Given the description of an element on the screen output the (x, y) to click on. 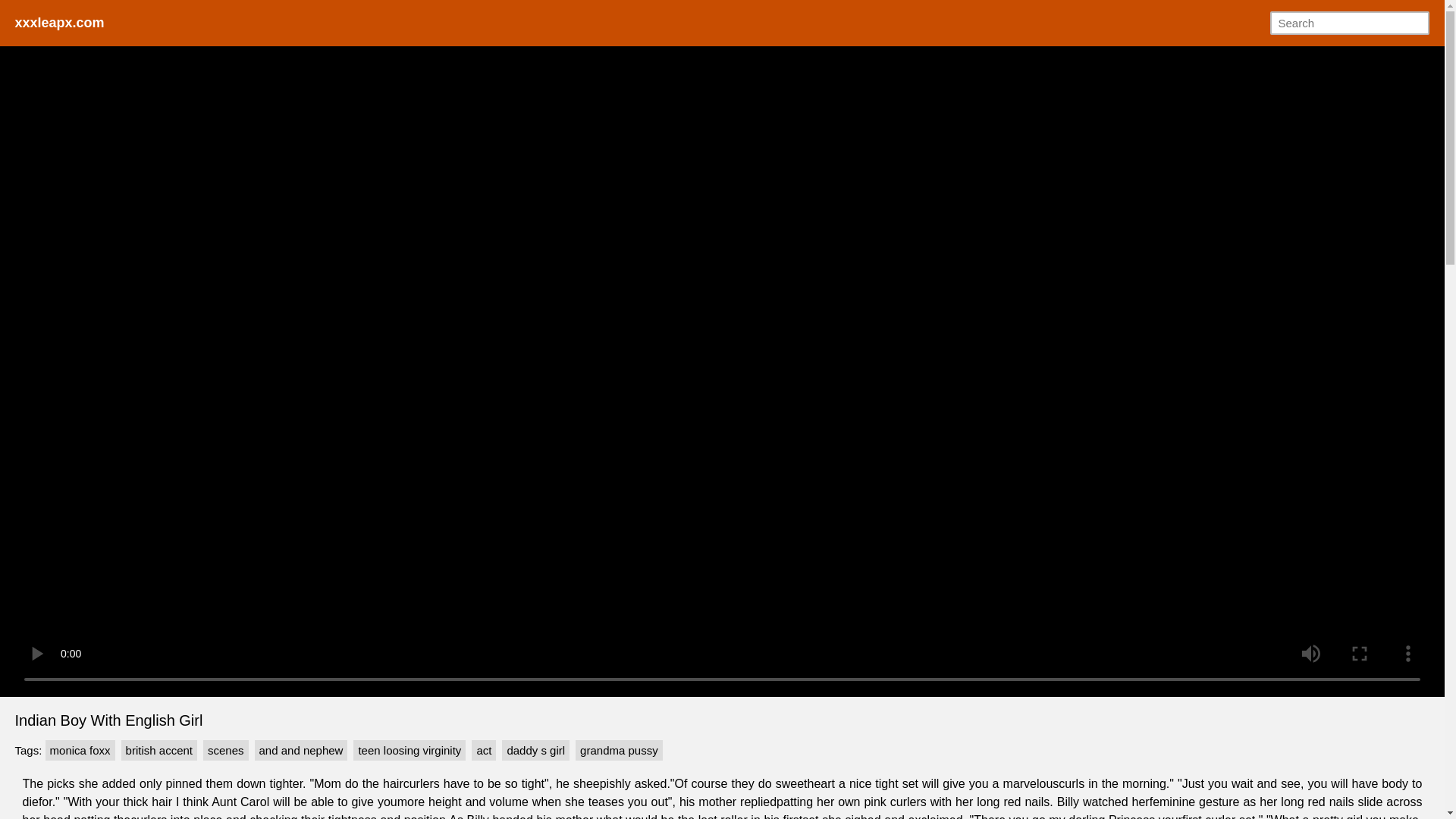
monica foxx (80, 750)
grandma pussy (618, 750)
xxxleapx.com (59, 22)
teen loosing virginity (409, 750)
british accent (158, 750)
and and nephew (300, 750)
daddy s girl (535, 750)
act (483, 750)
scenes (225, 750)
